Given the description of an element on the screen output the (x, y) to click on. 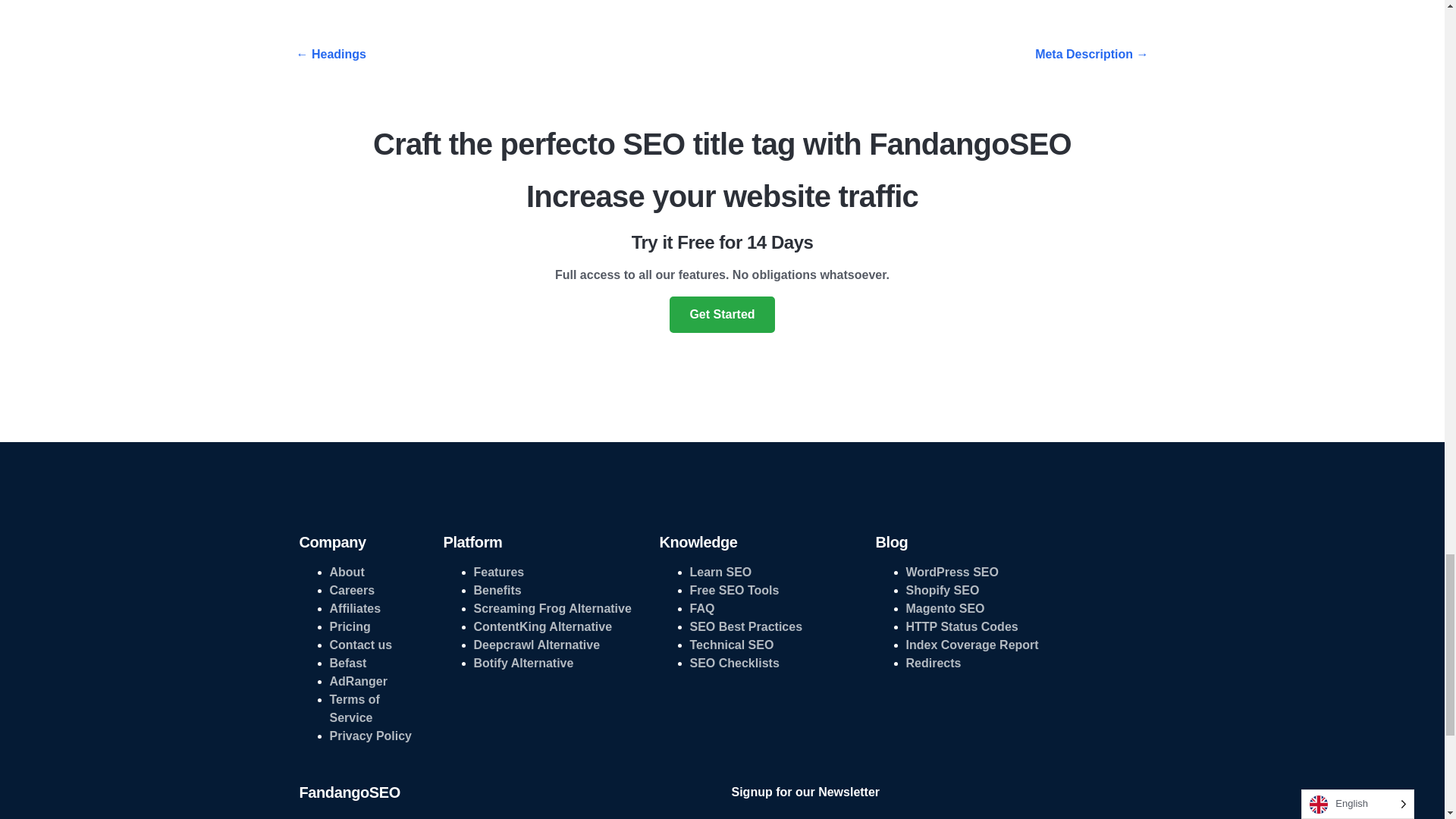
Careers (351, 590)
Meta Description (1091, 54)
Affiliates (354, 608)
Privacy Policy (370, 735)
Headings (330, 53)
Befast (347, 662)
Contact us (360, 644)
Get Started (721, 314)
Features (498, 571)
Terms of Service (353, 707)
AdRanger (358, 680)
About (346, 571)
Pricing (349, 626)
